Given the description of an element on the screen output the (x, y) to click on. 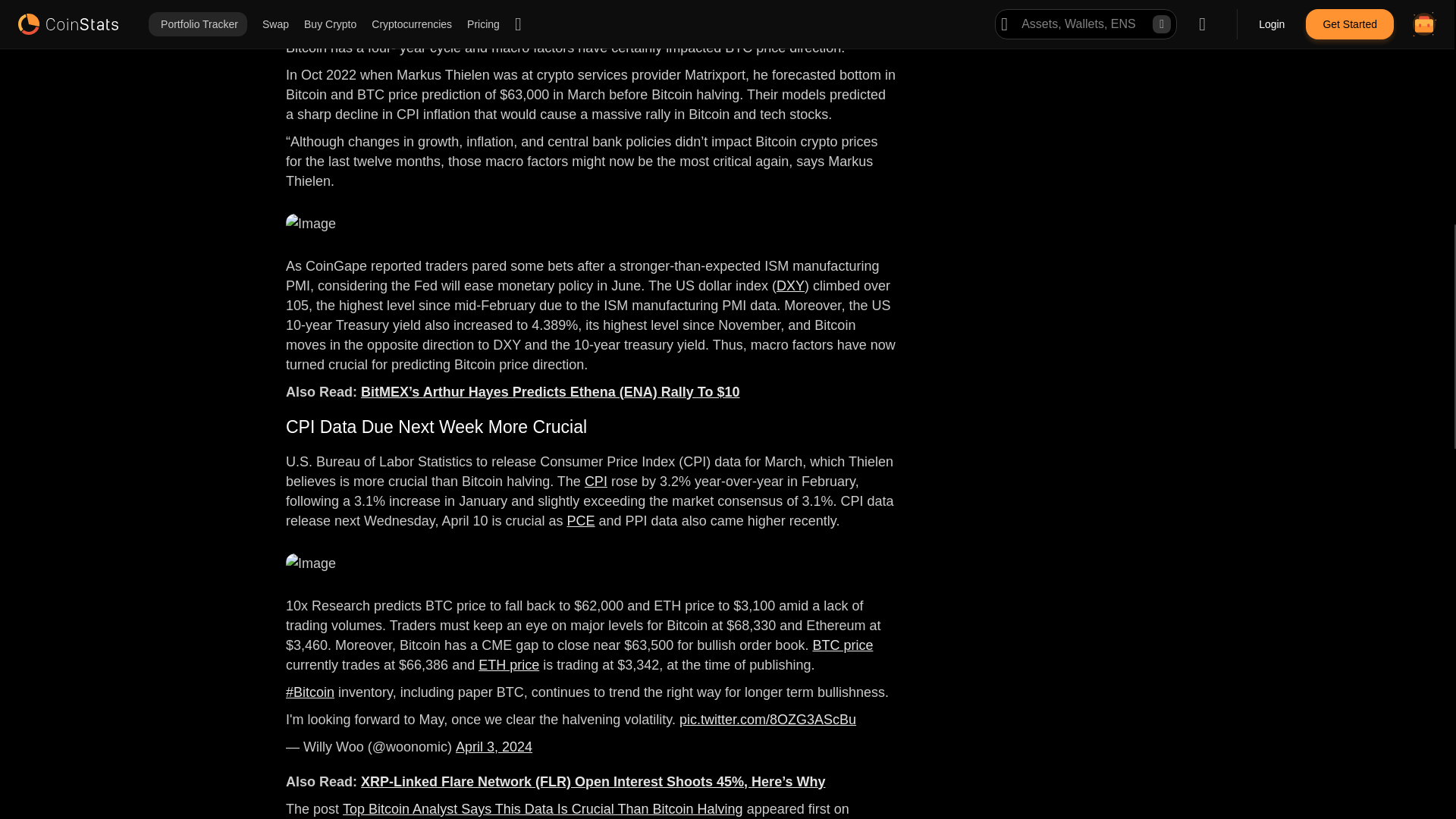
CPI (596, 481)
DXY (790, 285)
